Given the description of an element on the screen output the (x, y) to click on. 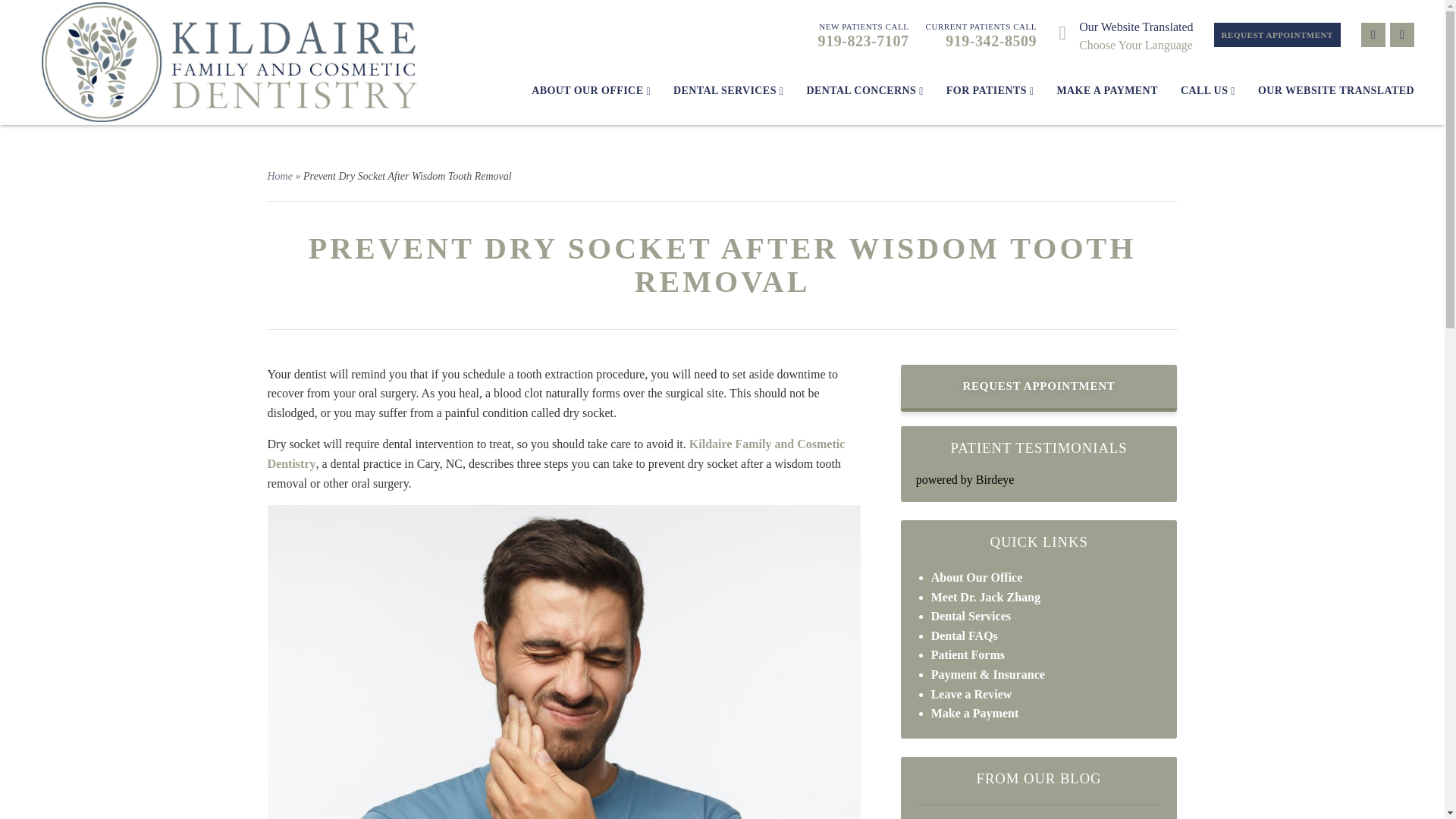
REQUEST APPOINTMENT (1276, 34)
ABOUT OUR OFFICE (590, 90)
DENTAL CONCERNS (864, 90)
DENTAL SERVICES (1120, 35)
FOR PATIENTS (727, 90)
